Given the description of an element on the screen output the (x, y) to click on. 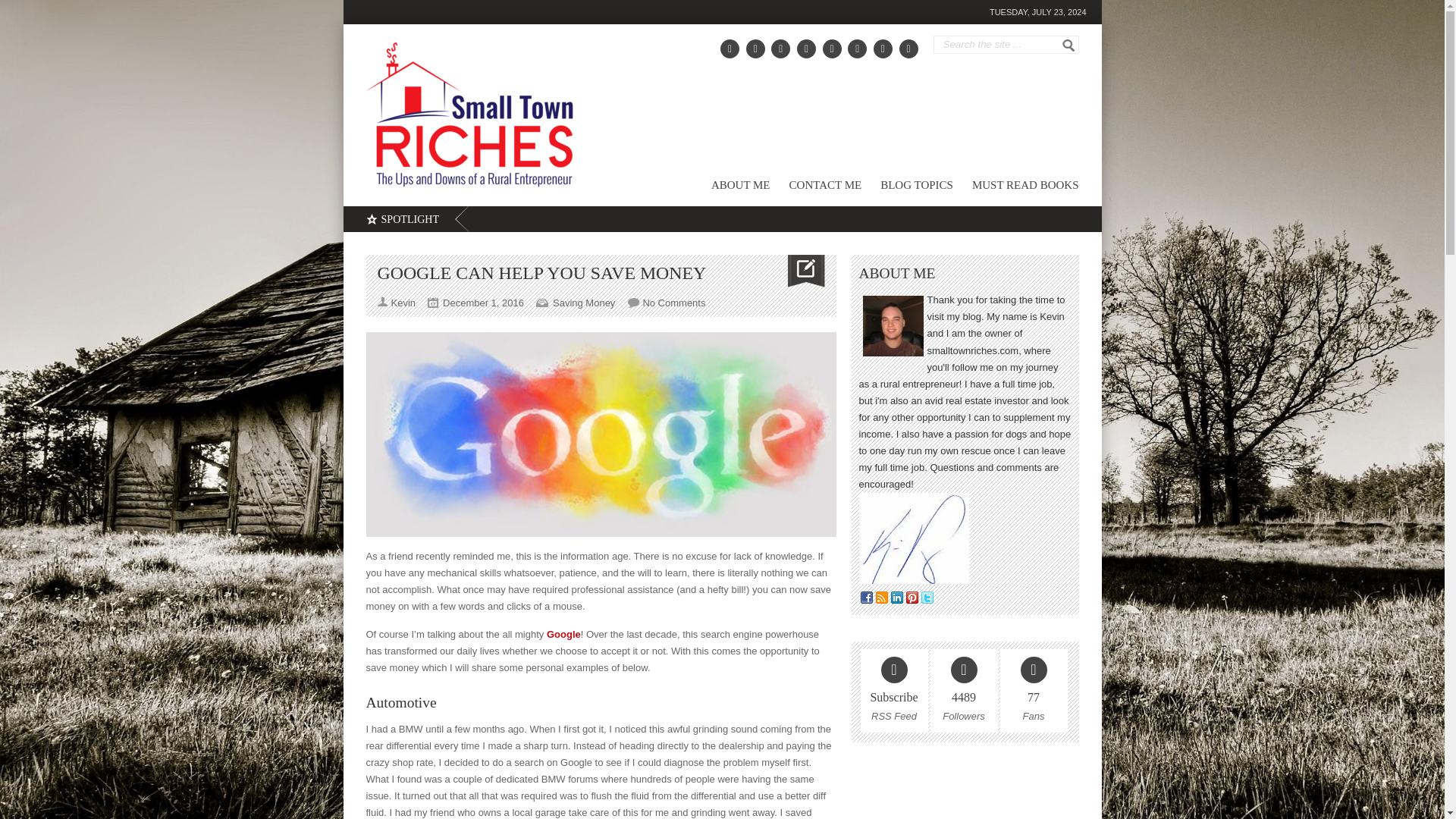
No Comments (673, 302)
MUST READ BOOKS (1015, 188)
Saving Money (583, 302)
Go (1067, 45)
Advertisement (964, 794)
Google (563, 633)
Search the site ... (1000, 43)
CONTACT ME (815, 188)
Advertisement (905, 117)
ABOUT ME (731, 188)
BLOG TOPICS (907, 188)
